Given the description of an element on the screen output the (x, y) to click on. 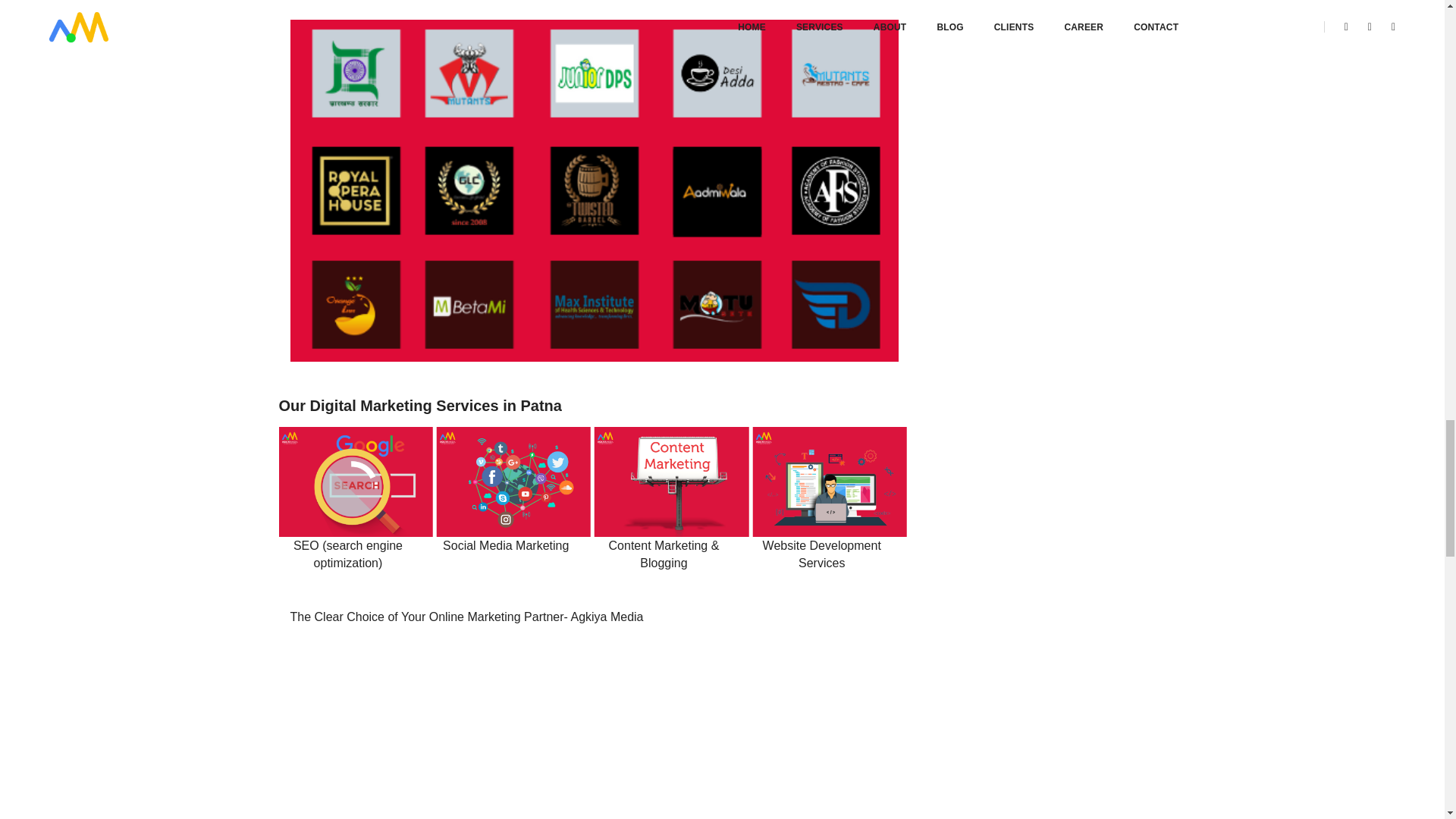
Website Development Services (821, 554)
Social Media Marketing (505, 545)
